Given the description of an element on the screen output the (x, y) to click on. 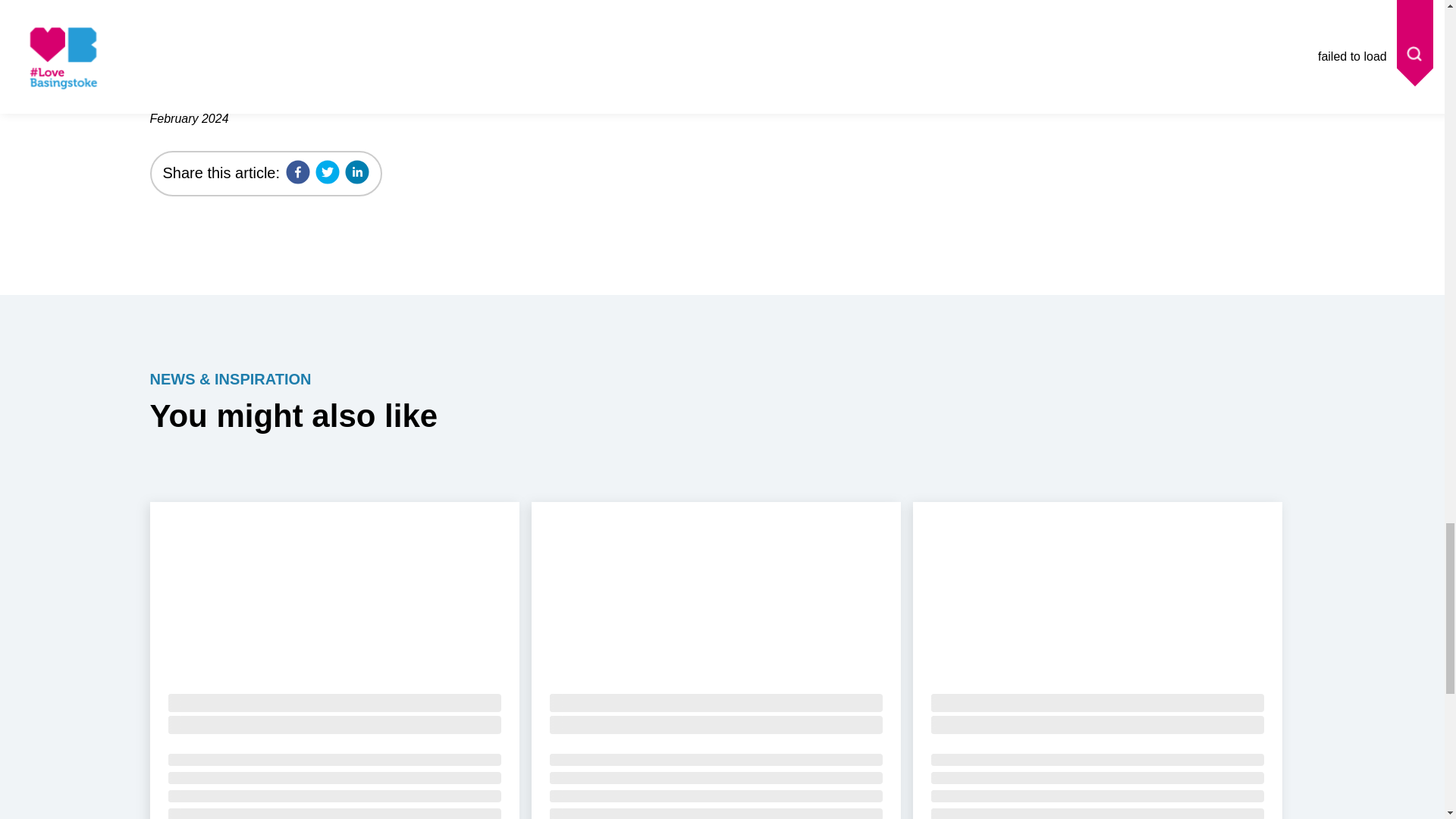
go to our website (477, 36)
